Given the description of an element on the screen output the (x, y) to click on. 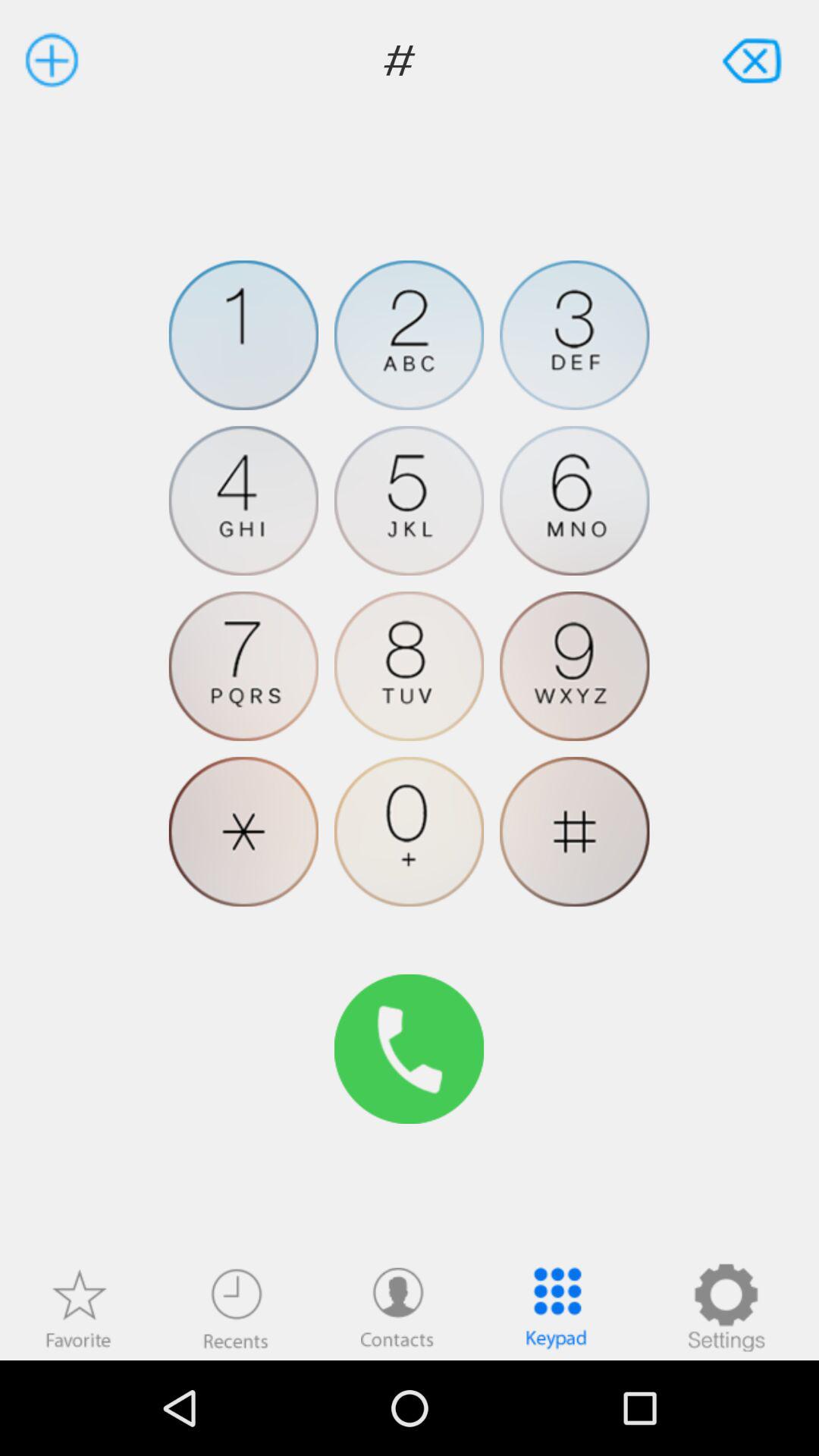
press number 3 (574, 335)
